Given the description of an element on the screen output the (x, y) to click on. 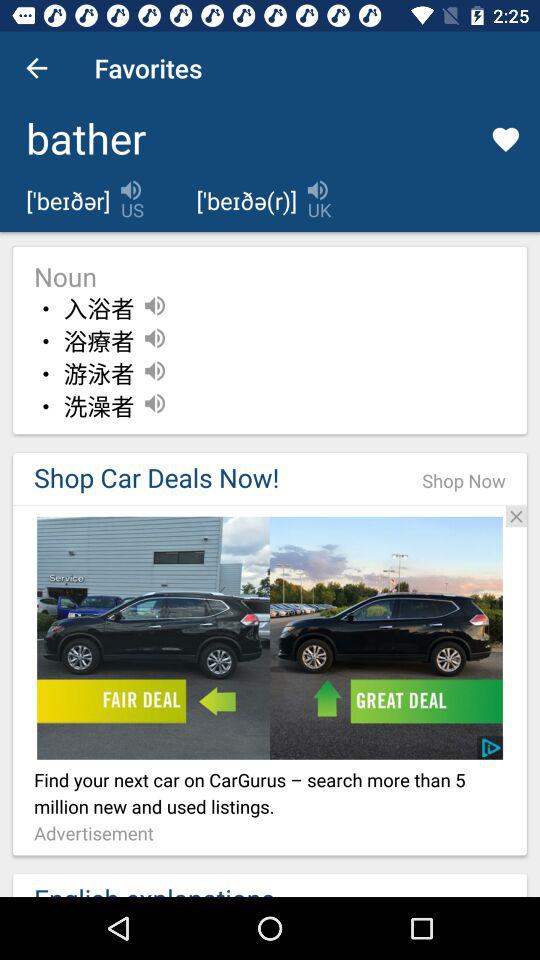
launch item below the noun icon (98, 309)
